Given the description of an element on the screen output the (x, y) to click on. 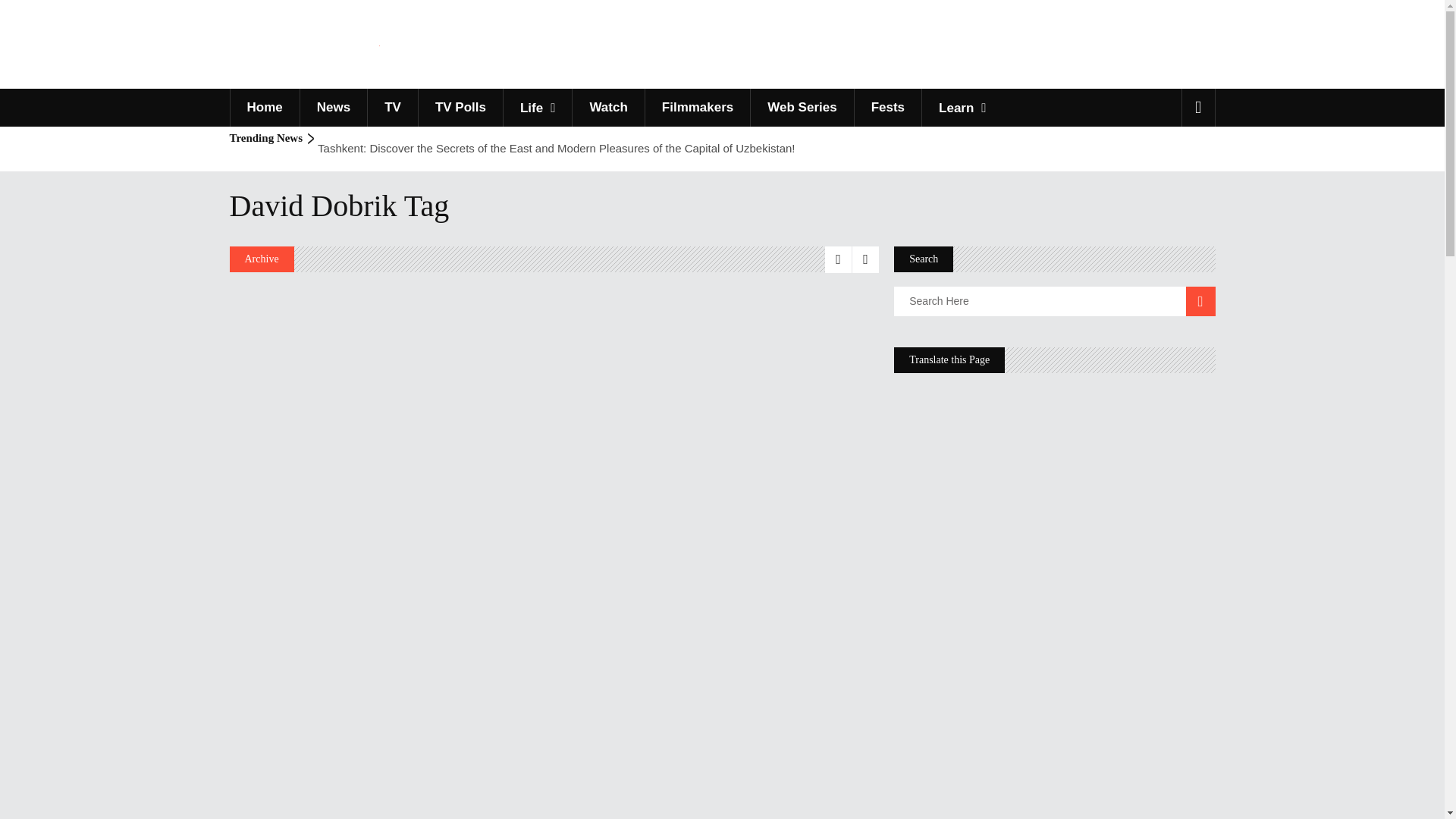
Filmmakers (698, 107)
Web Series (801, 107)
TV Polls (459, 107)
News (332, 107)
Watch (607, 107)
Home (263, 107)
TV (391, 107)
Learn (962, 107)
Life (537, 107)
Fests (887, 107)
